Given the description of an element on the screen output the (x, y) to click on. 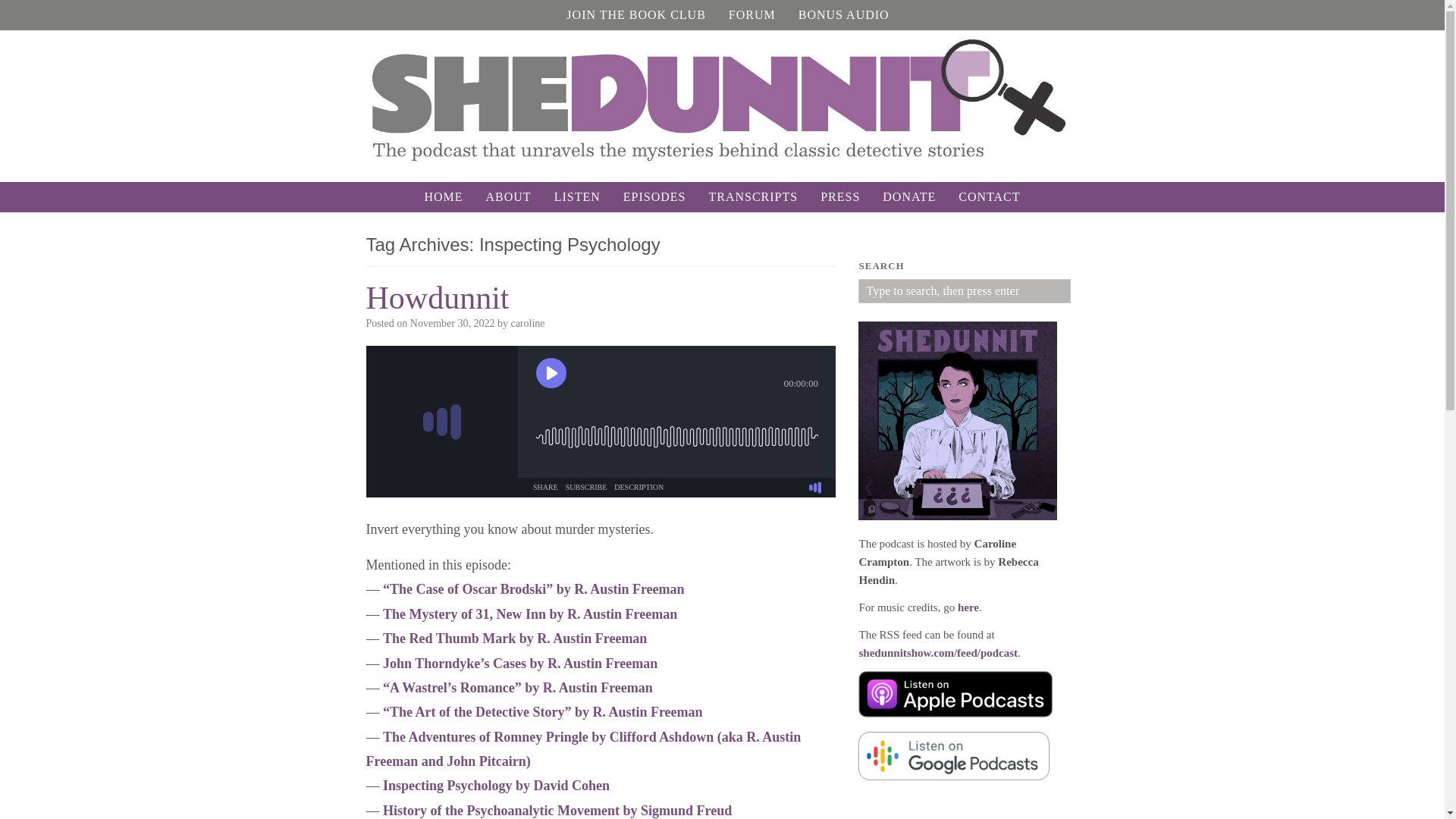
The Red Thumb Mark by R. Austin Freeman (514, 638)
CONTACT (988, 196)
HOME (443, 196)
PRESS (839, 196)
TRANSCRIPTS (753, 196)
History of the Psychoanalytic Movement by Sigmund Freud (557, 810)
JOIN THE BOOK CLUB (635, 15)
FORUM (752, 15)
caroline (527, 323)
Type to search, then press enter (964, 291)
